Given the description of an element on the screen output the (x, y) to click on. 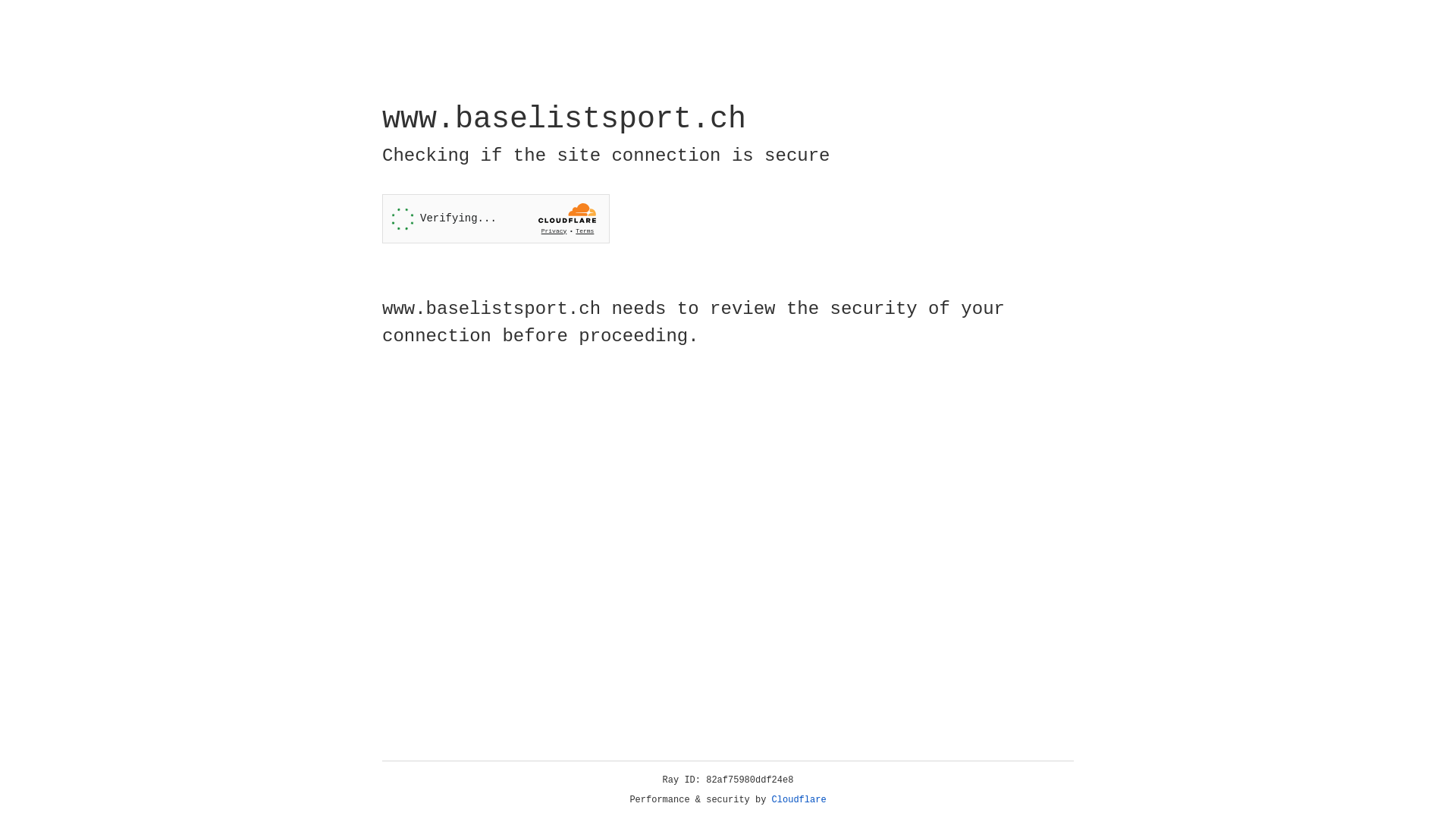
Widget containing a Cloudflare security challenge Element type: hover (495, 218)
Cloudflare Element type: text (798, 799)
